Given the description of an element on the screen output the (x, y) to click on. 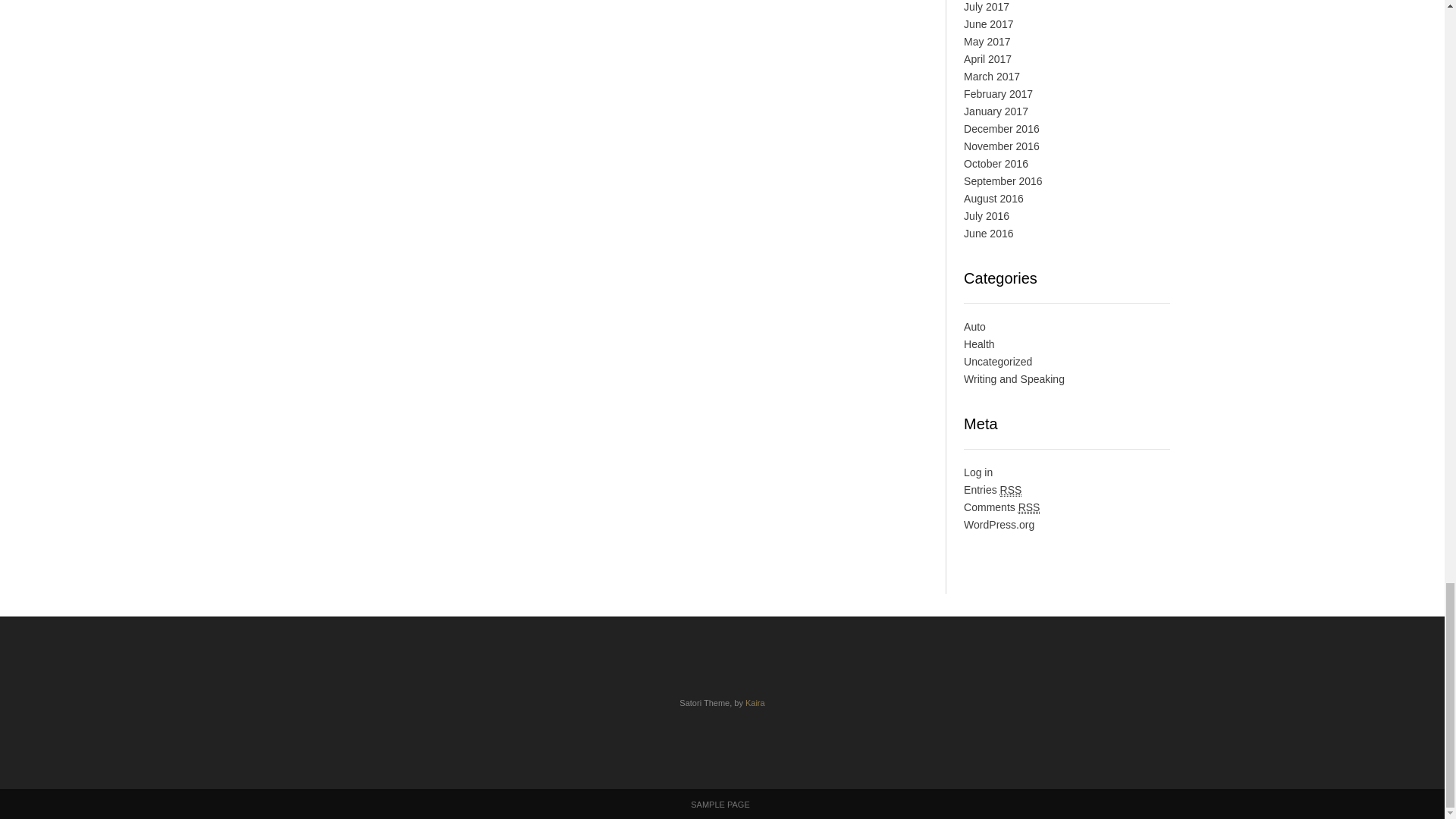
Really Simple Syndication (1029, 507)
Health Category (978, 344)
Really Simple Syndication (1011, 490)
Writing and Speaking Category (1013, 378)
Auto Category (974, 326)
